Given the description of an element on the screen output the (x, y) to click on. 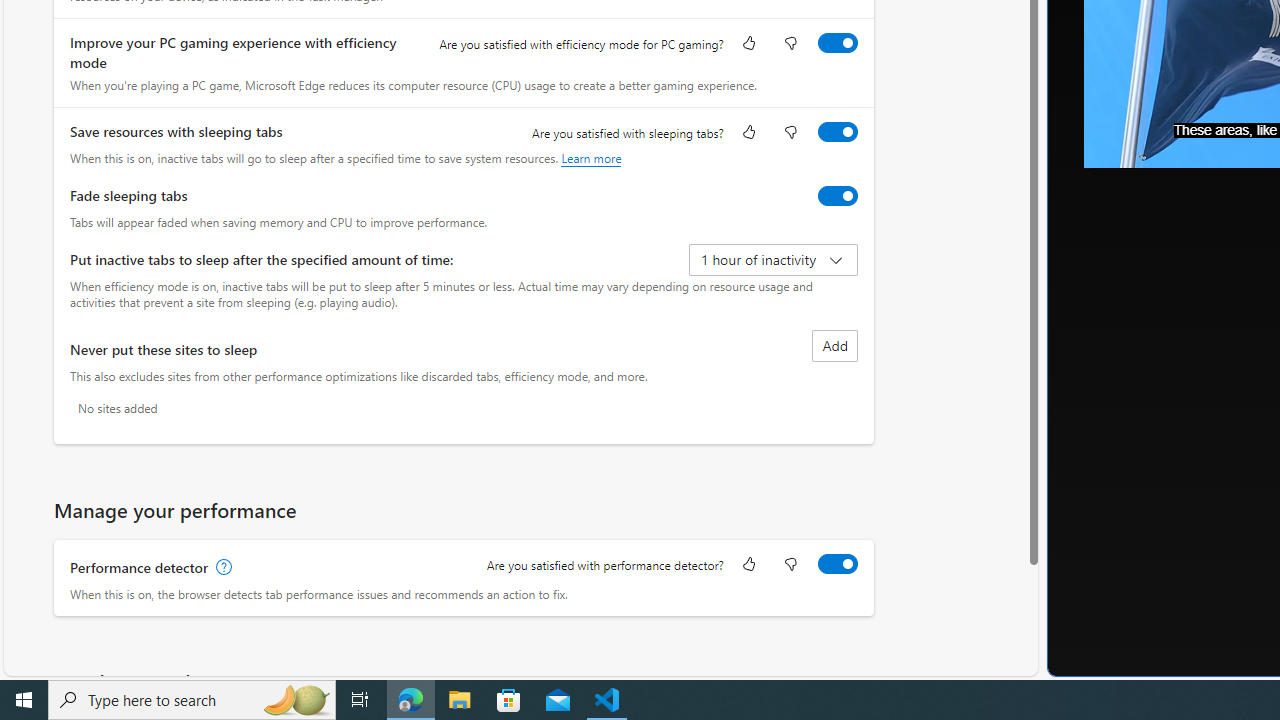
Learn more (591, 158)
Performance detector (837, 563)
Like (748, 565)
Performance detector, learn more (221, 567)
Seek Back (1153, 146)
Improve your PC gaming experience with efficiency mode (837, 43)
Fade sleeping tabs (837, 195)
Seek Forward (1193, 146)
Pause (1114, 146)
Save resources with sleeping tabs (837, 131)
Add site to never put these sites to sleep list (834, 345)
